Given the description of an element on the screen output the (x, y) to click on. 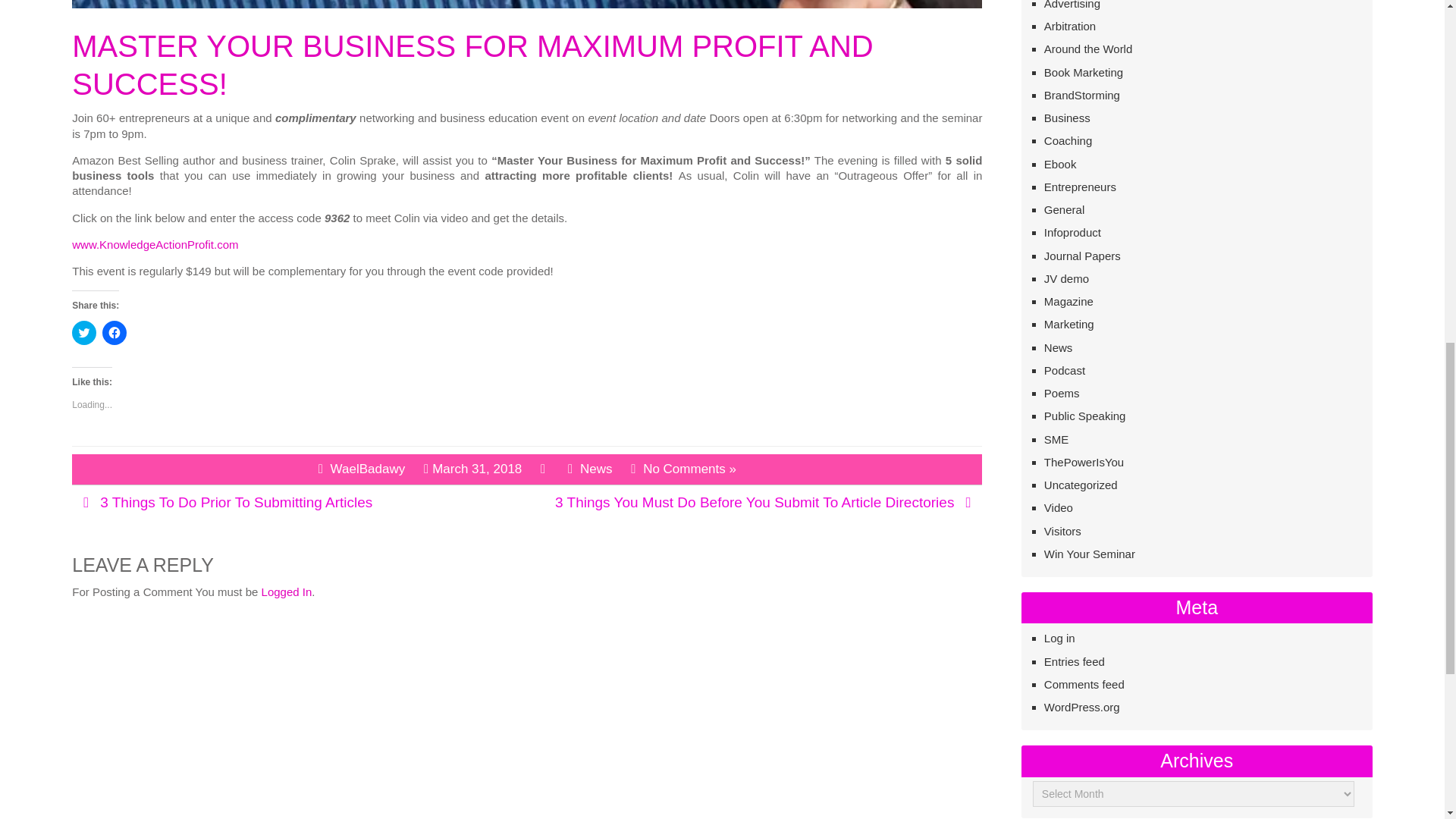
www.KnowledgeActionProfit.com (154, 244)
Click to share on Facebook (113, 332)
Click to share on Twitter (83, 332)
Posts by WaelBadawy (368, 468)
